Given the description of an element on the screen output the (x, y) to click on. 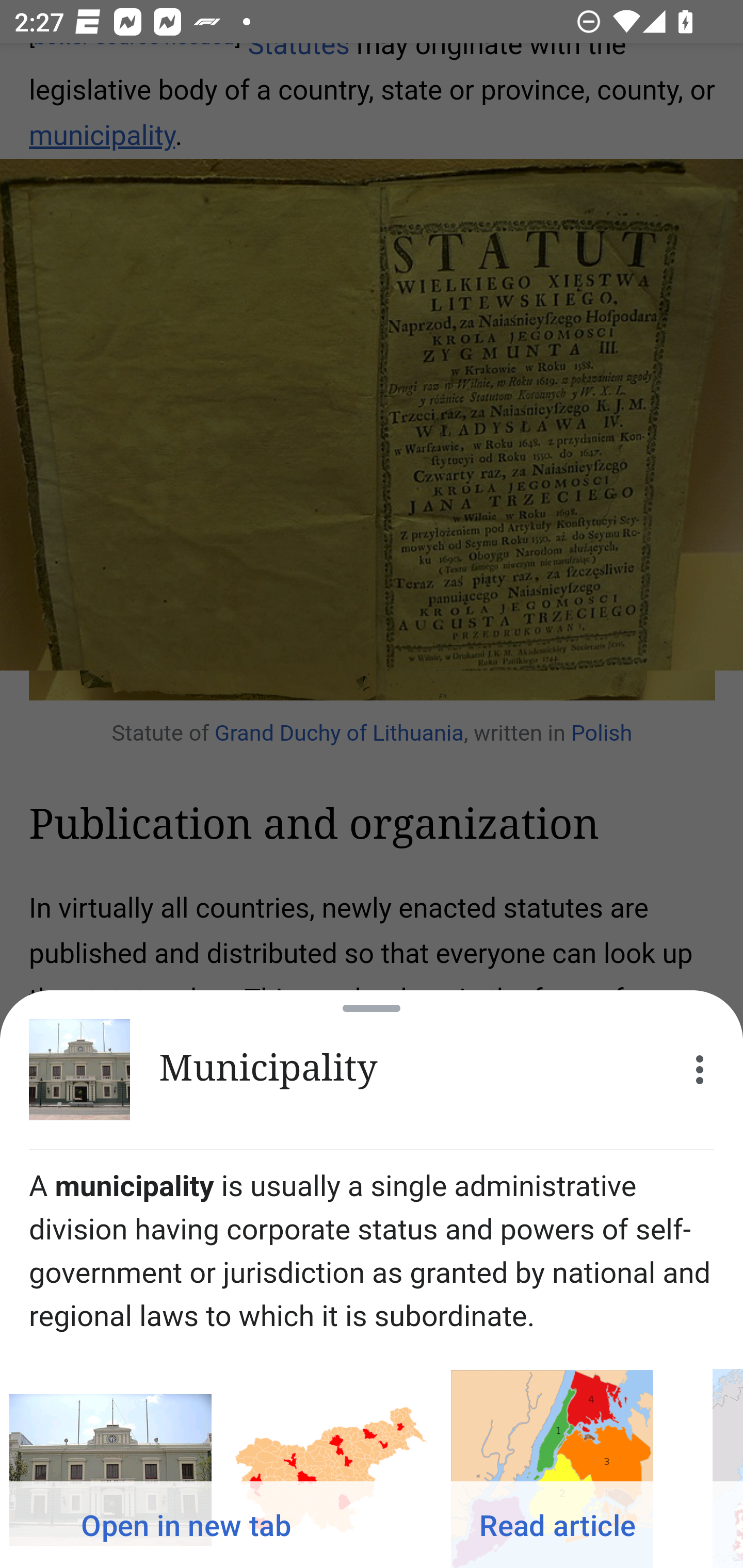
Municipality More options (371, 1069)
More options (699, 1070)
Open in new tab (185, 1524)
Read article (557, 1524)
